Given the description of an element on the screen output the (x, y) to click on. 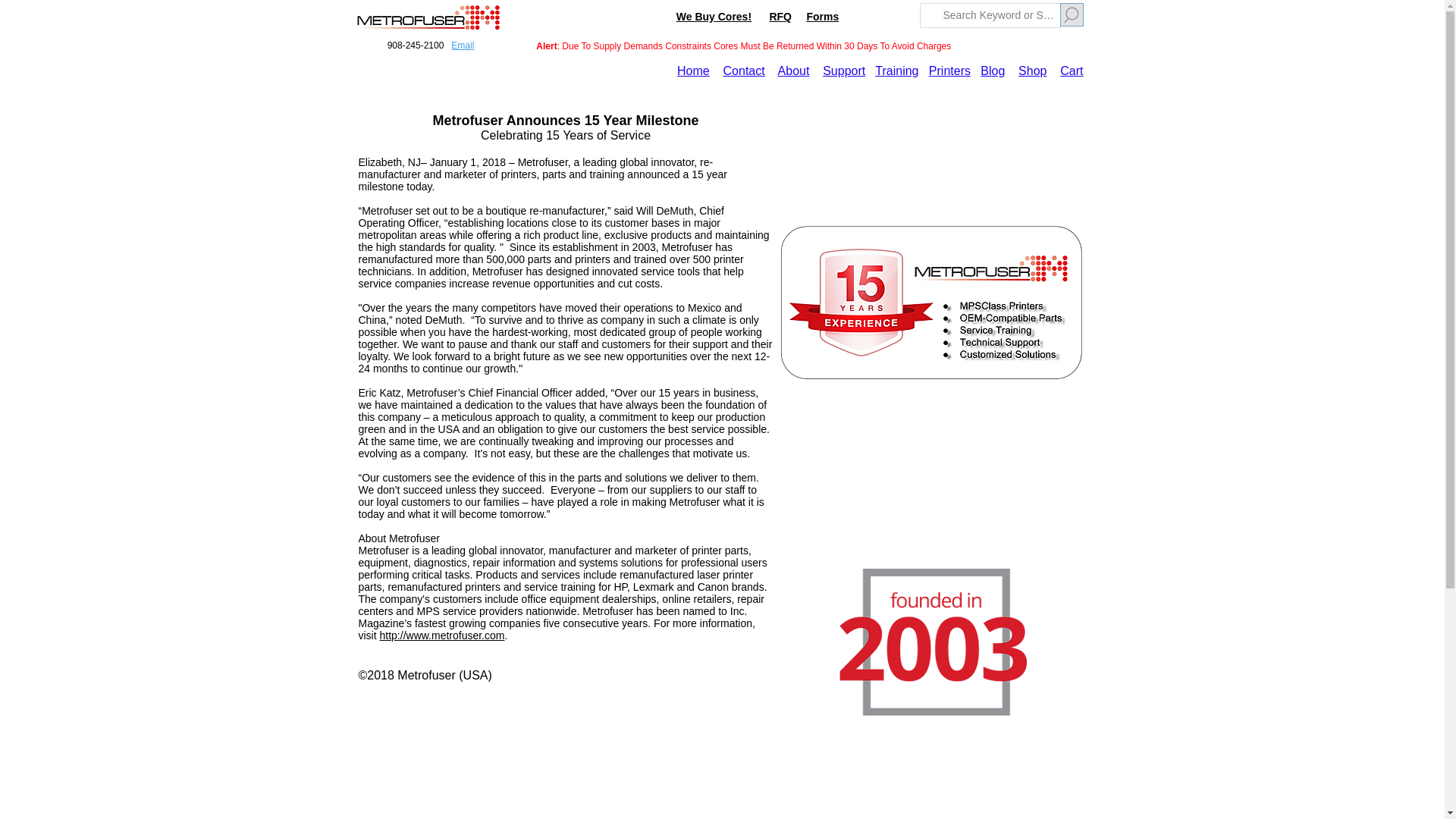
Shop (1031, 70)
Contact (744, 70)
We Buy Cores! (714, 16)
Printers (949, 70)
Email (462, 45)
Forms (822, 16)
Home (693, 70)
Cart (1071, 70)
About (793, 70)
Support (843, 70)
